Given the description of an element on the screen output the (x, y) to click on. 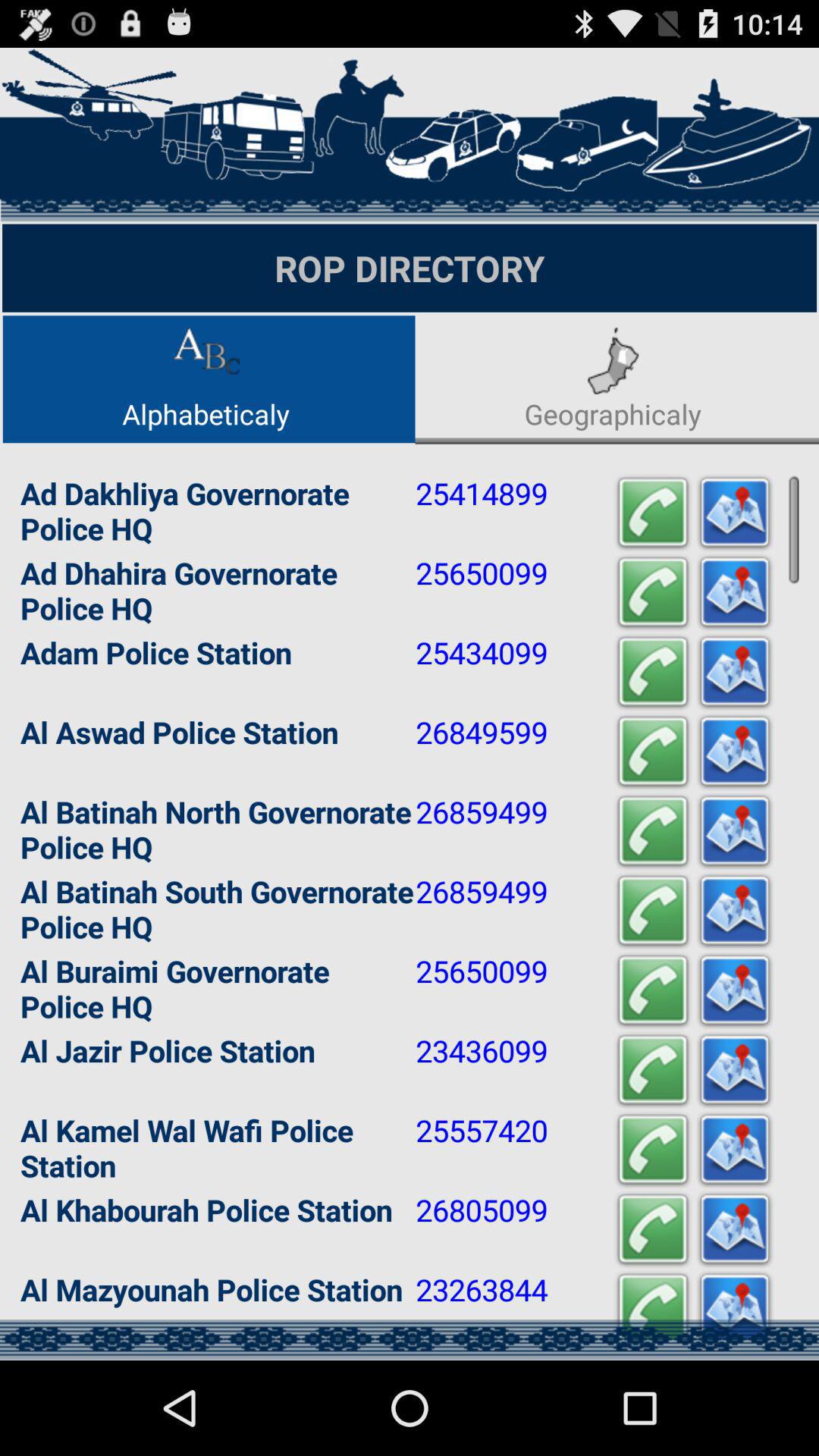
this button brings up the map location of this police station (734, 1309)
